Given the description of an element on the screen output the (x, y) to click on. 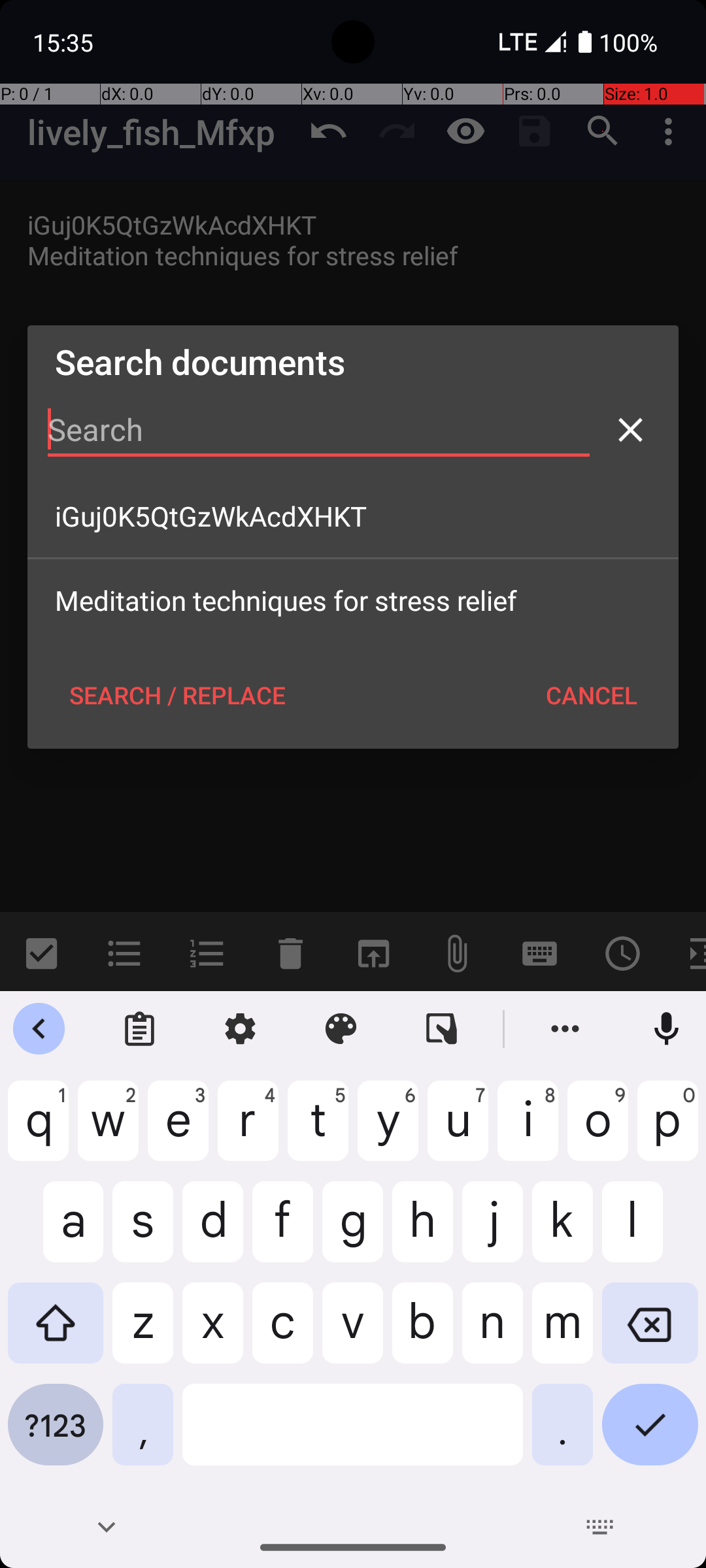
iGuj0K5QtGzWkAcdXHKT Element type: android.widget.TextView (352, 515)
Meditation techniques for stress relief Element type: android.widget.TextView (352, 600)
